Given the description of an element on the screen output the (x, y) to click on. 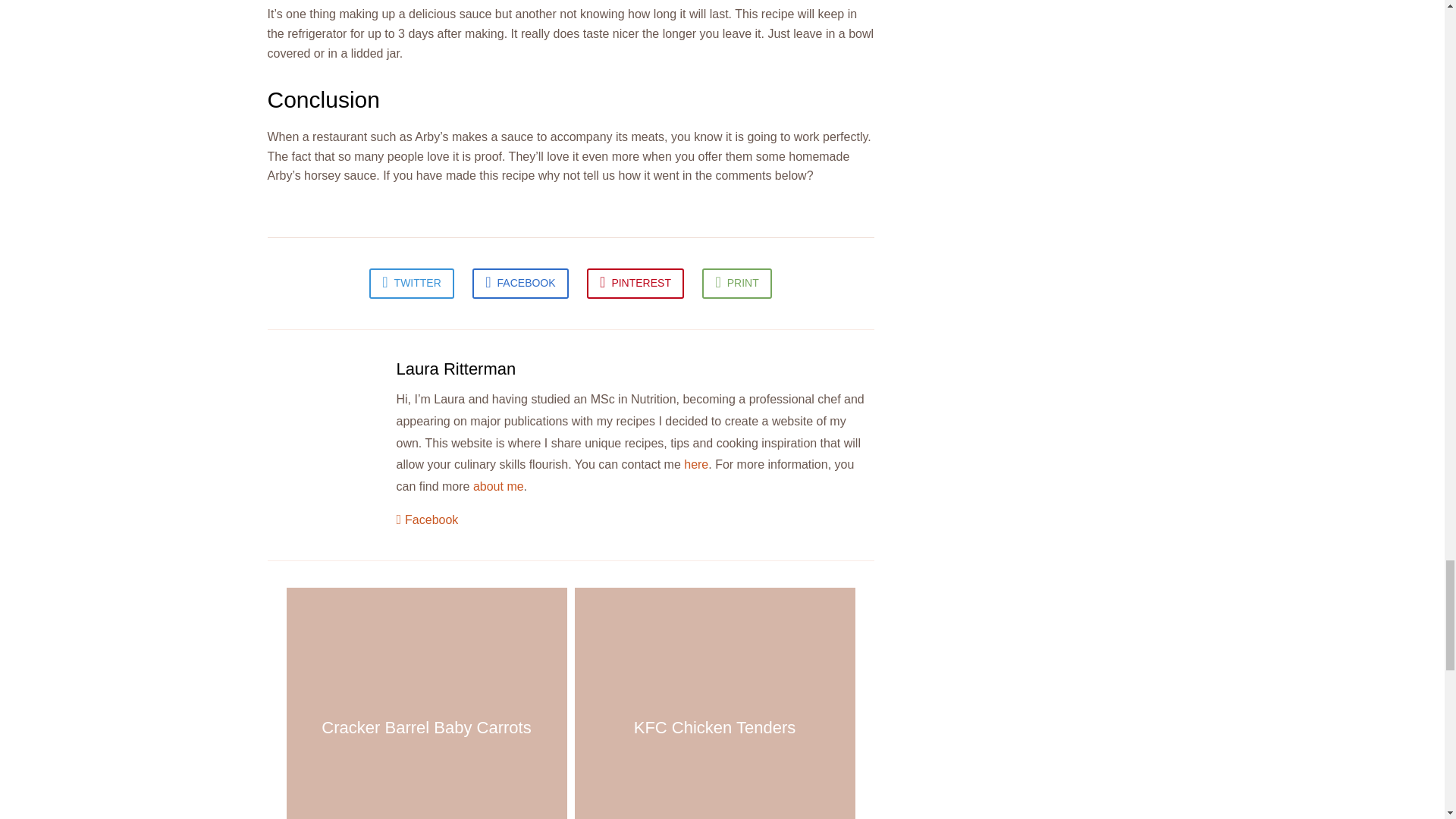
Pin it to Pinterest (635, 283)
Share this on Facebook (519, 283)
Tweet this on Twitter (411, 283)
Print this Page (736, 283)
